Given the description of an element on the screen output the (x, y) to click on. 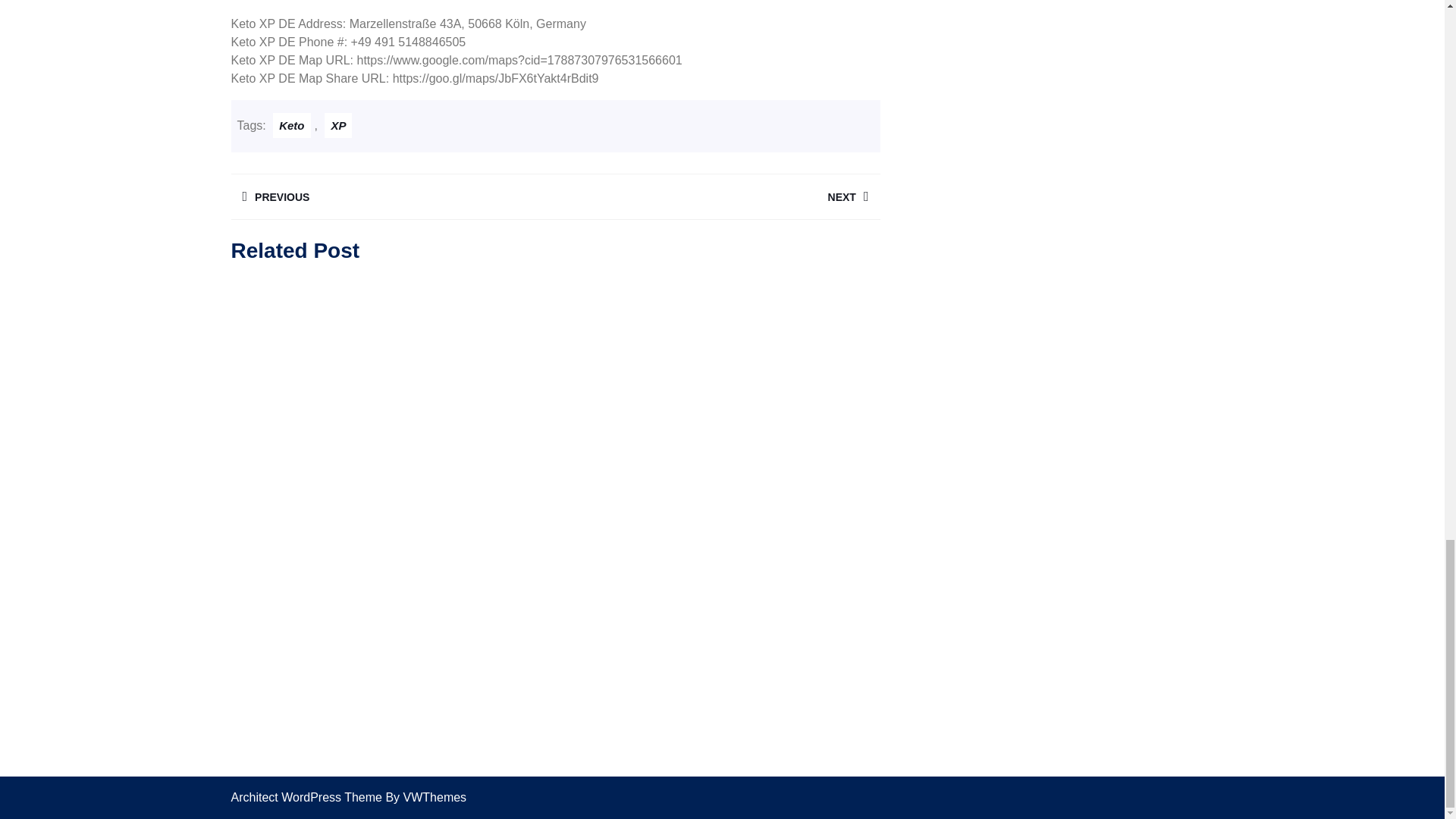
Keto (716, 196)
XP (291, 125)
